Given the description of an element on the screen output the (x, y) to click on. 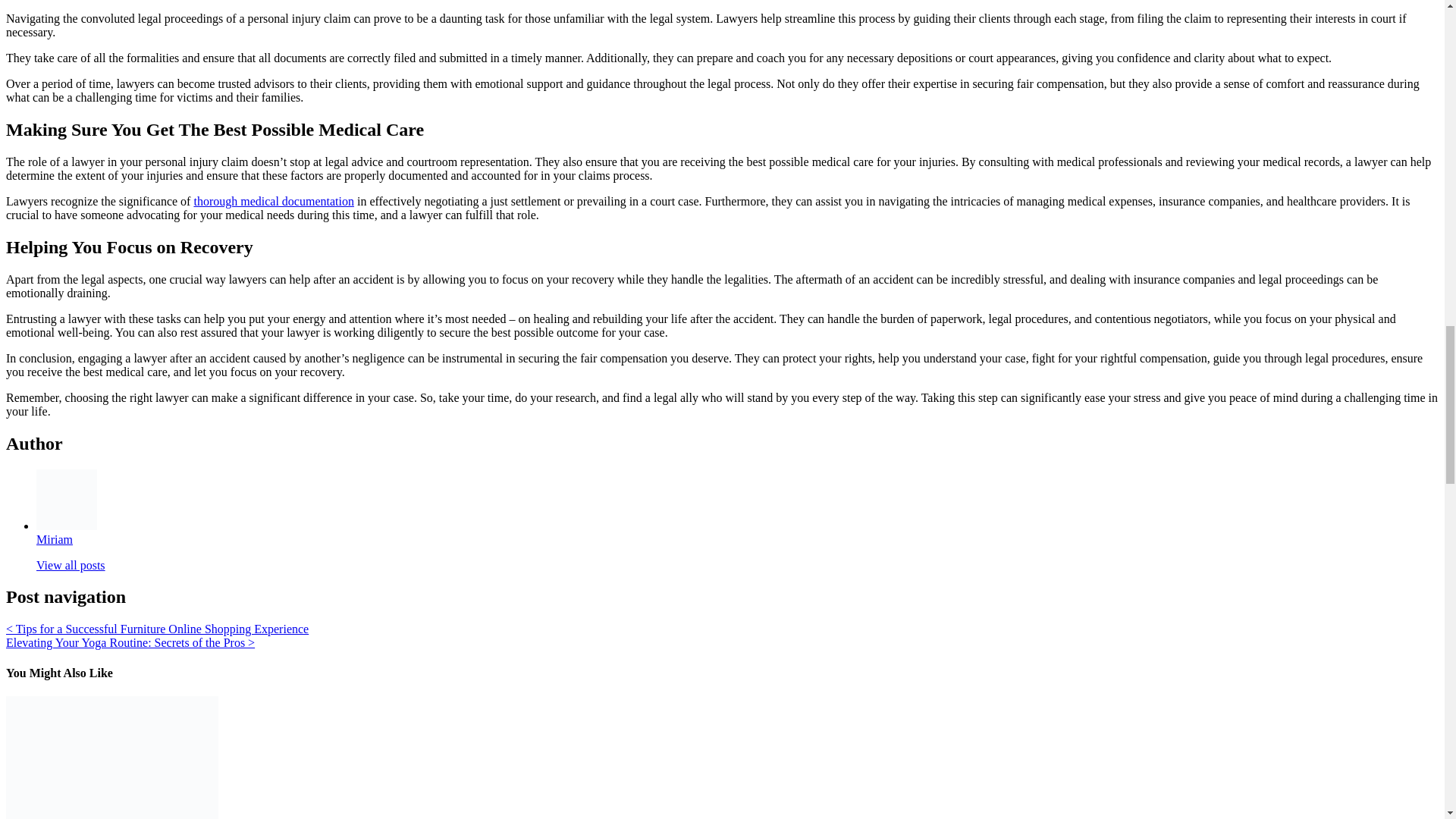
Miriam (54, 538)
View all posts (70, 563)
thorough medical documentation (273, 201)
Miriam (54, 538)
View all posts (70, 563)
